Given the description of an element on the screen output the (x, y) to click on. 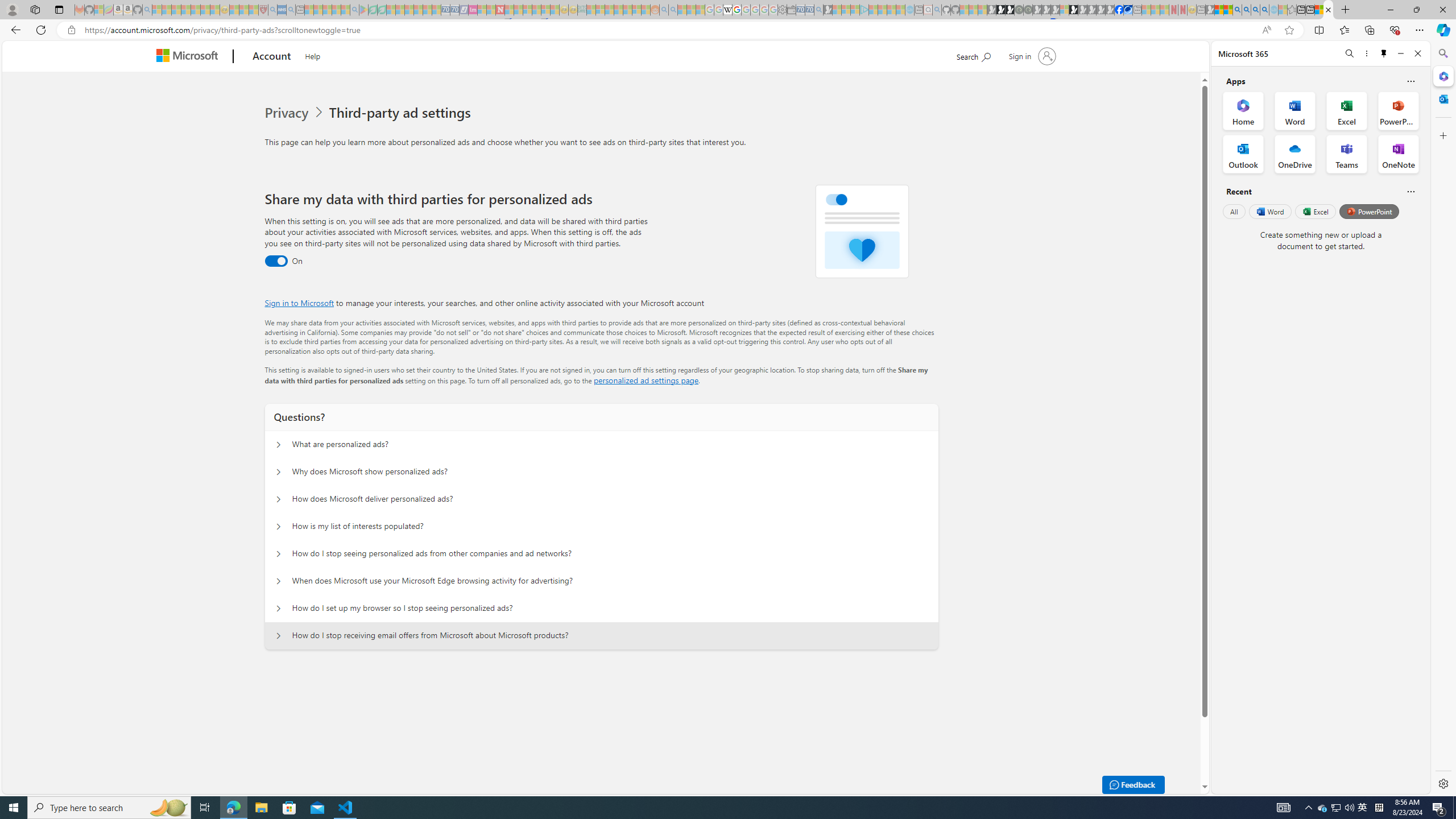
2009 Bing officially replaced Live Search on June 3 - Search (1246, 9)
Questions? How is my list of interests populated? (278, 526)
Third party data sharing toggle (276, 260)
